Given the description of an element on the screen output the (x, y) to click on. 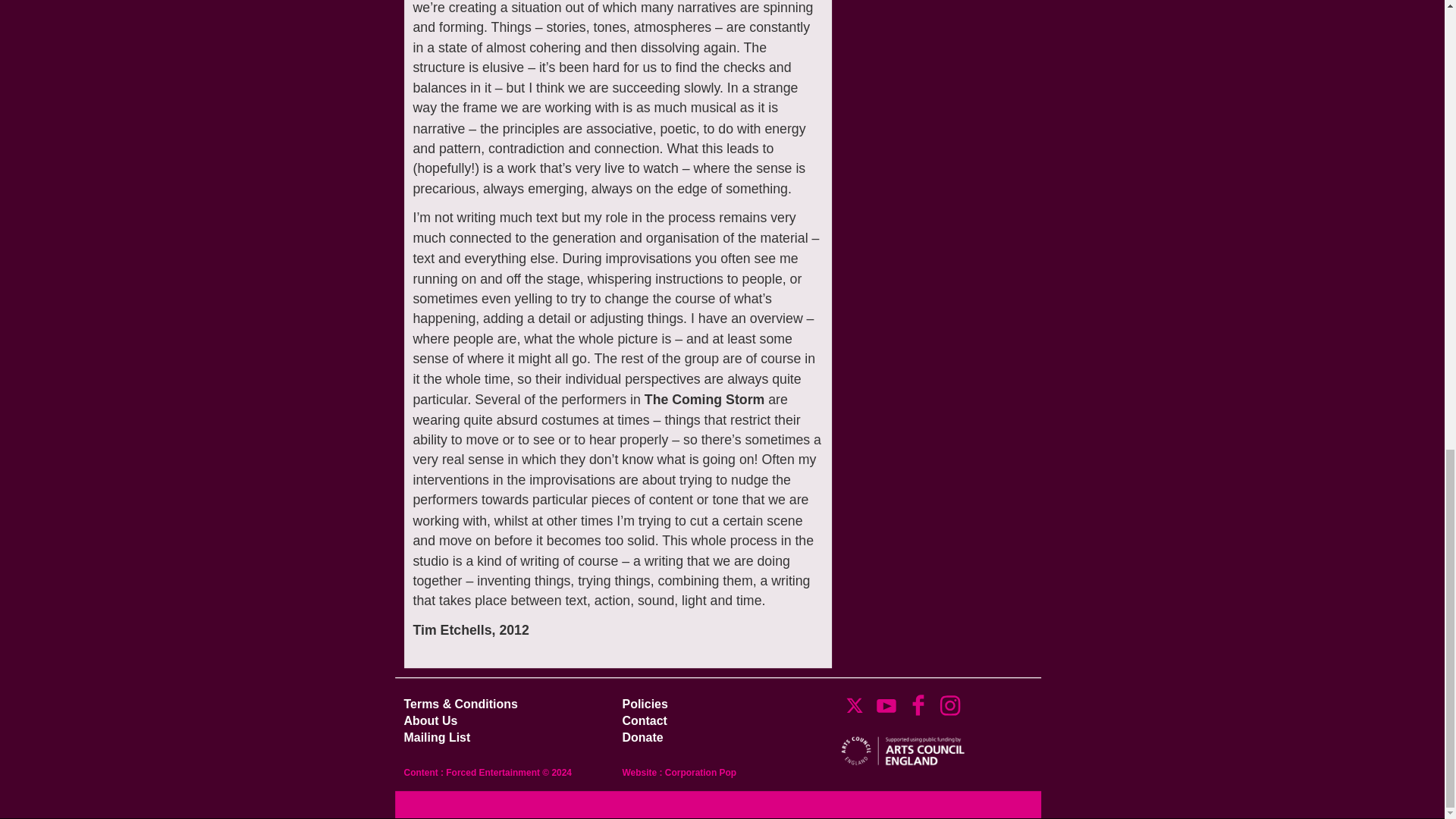
follow us on twitter (851, 702)
view us on instagram (947, 702)
Policies (642, 702)
watch on youtube (697, 771)
Contact (883, 702)
Mailing List (642, 718)
find us on facebook (430, 736)
About Us (915, 702)
Donate (425, 718)
